Given the description of an element on the screen output the (x, y) to click on. 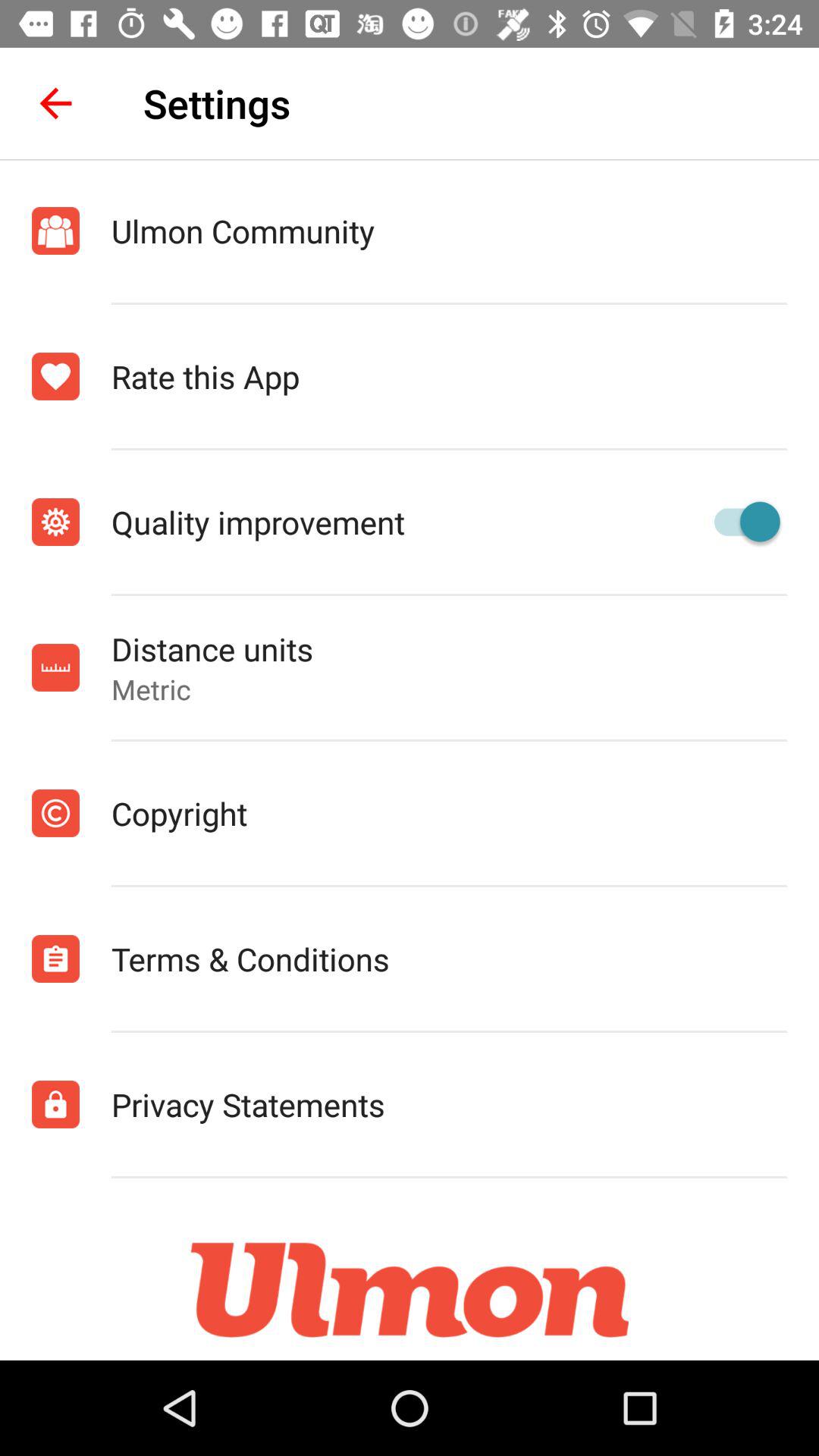
turn off icon to the left of the settings icon (55, 103)
